Given the description of an element on the screen output the (x, y) to click on. 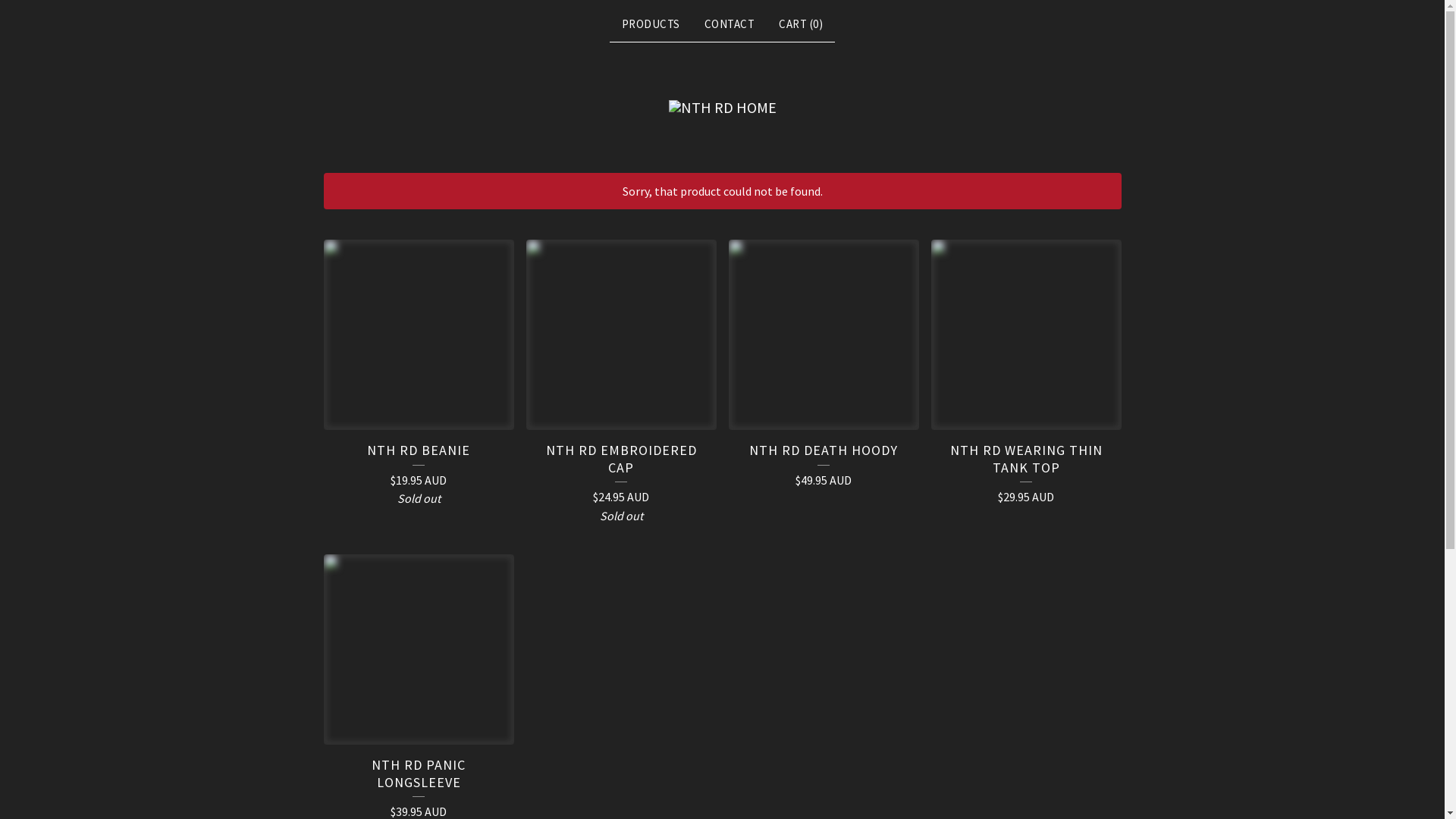
NTH RD DEATH HOODY
$49.95 AUD Element type: text (823, 369)
NTH RD WEARING THIN TANK TOP
$29.95 AUD Element type: text (1026, 378)
PRODUCTS Element type: text (650, 23)
NTH RD BEANIE
$19.95 AUD
Sold out Element type: text (418, 379)
Home Element type: hover (722, 107)
CONTACT Element type: text (729, 23)
NTH RD EMBROIDERED CAP
$24.95 AUD
Sold out Element type: text (621, 387)
CART (0) Element type: text (800, 23)
